Given the description of an element on the screen output the (x, y) to click on. 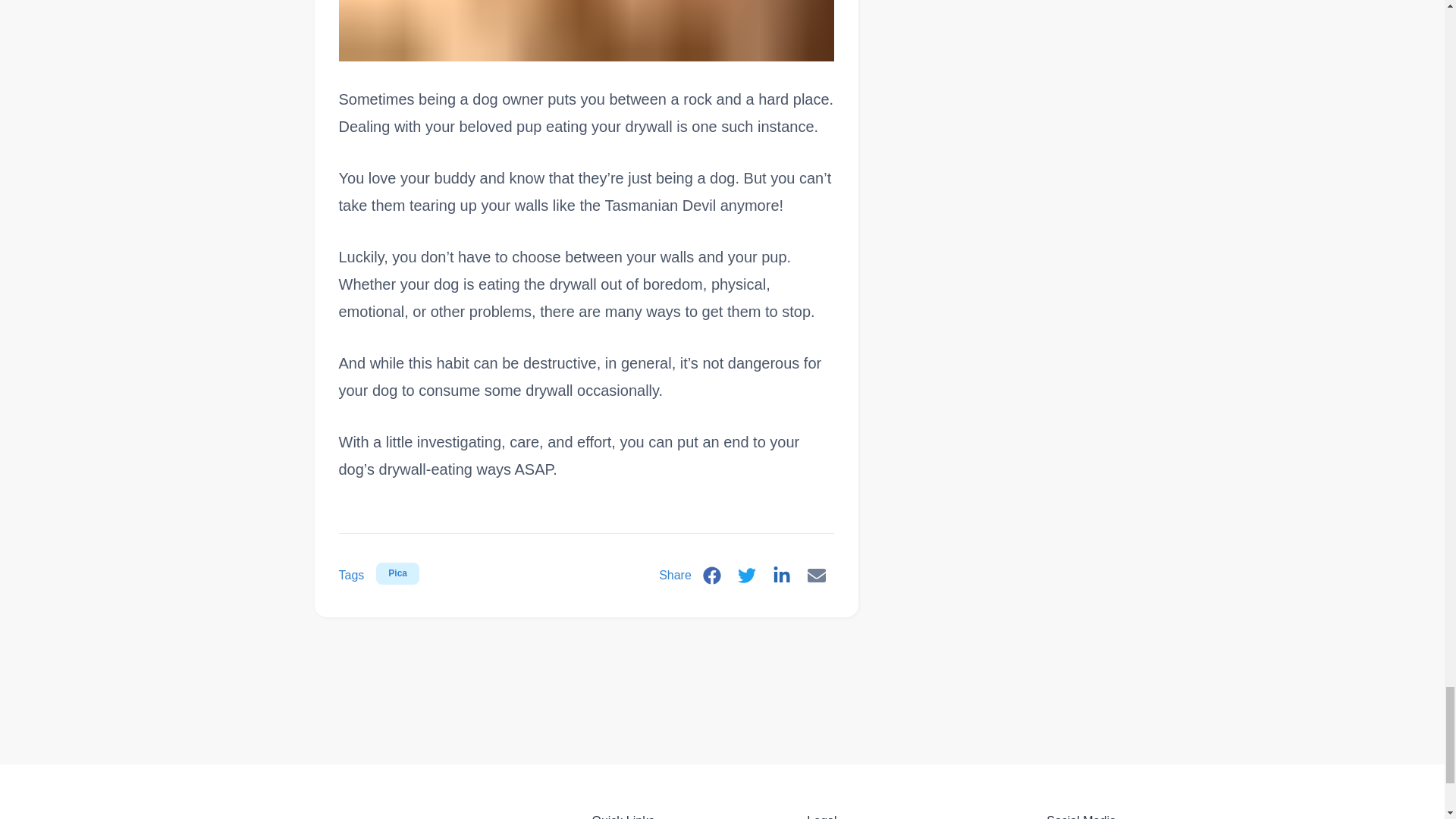
Pica (397, 573)
image3 (584, 30)
